Given the description of an element on the screen output the (x, y) to click on. 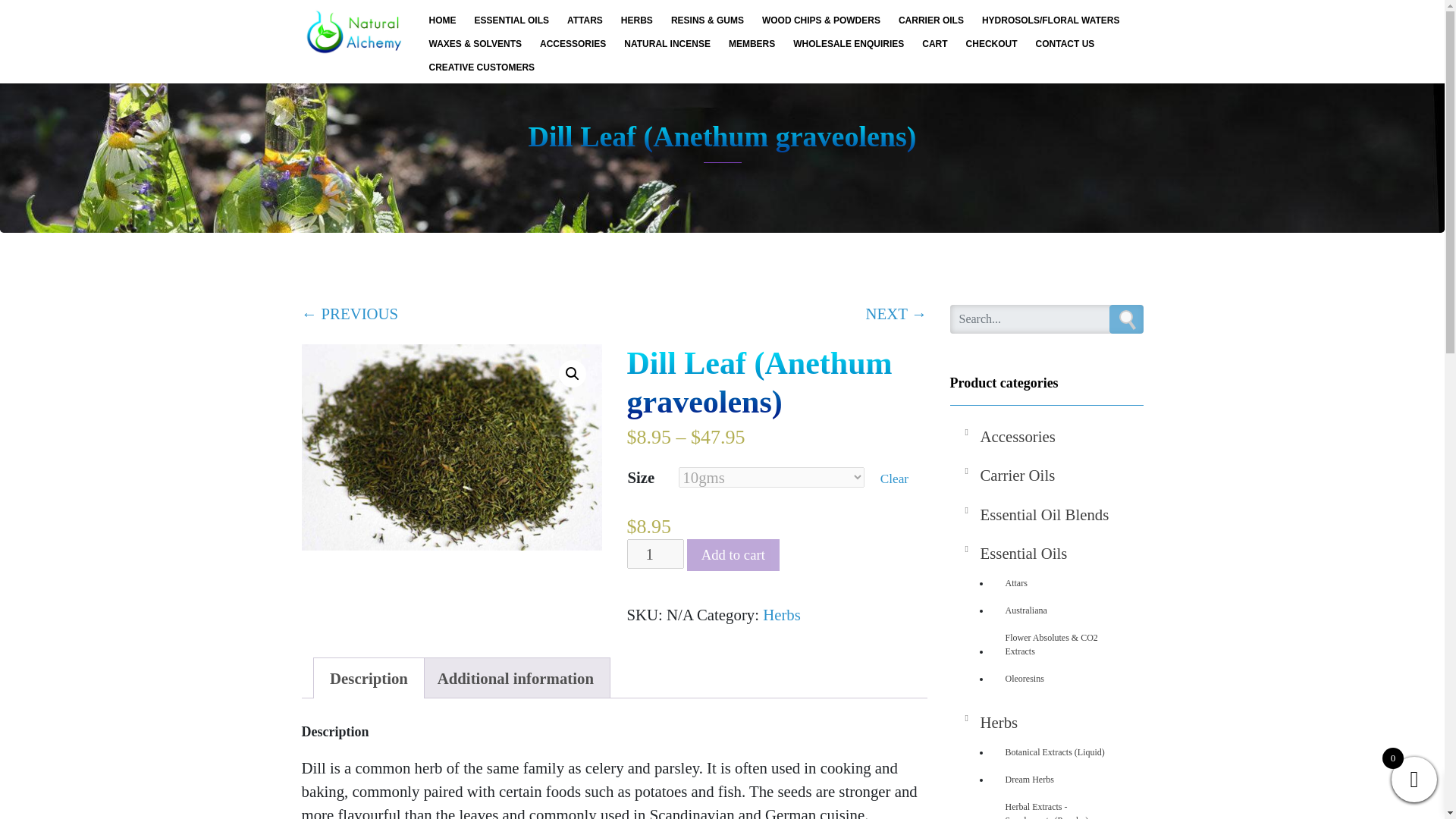
1 (655, 553)
ACCESSORIES (572, 43)
Clear (894, 478)
ATTARS (584, 20)
HOME (442, 20)
NATURAL INCENSE (666, 43)
MEMBERS (751, 43)
dill-leaf (451, 446)
Description (368, 677)
HERBS (636, 20)
WHOLESALE ENQUIRIES (848, 43)
Additional information (516, 677)
Search for: (1045, 318)
CONTACT US (1064, 43)
ESSENTIAL OILS (511, 20)
